Given the description of an element on the screen output the (x, y) to click on. 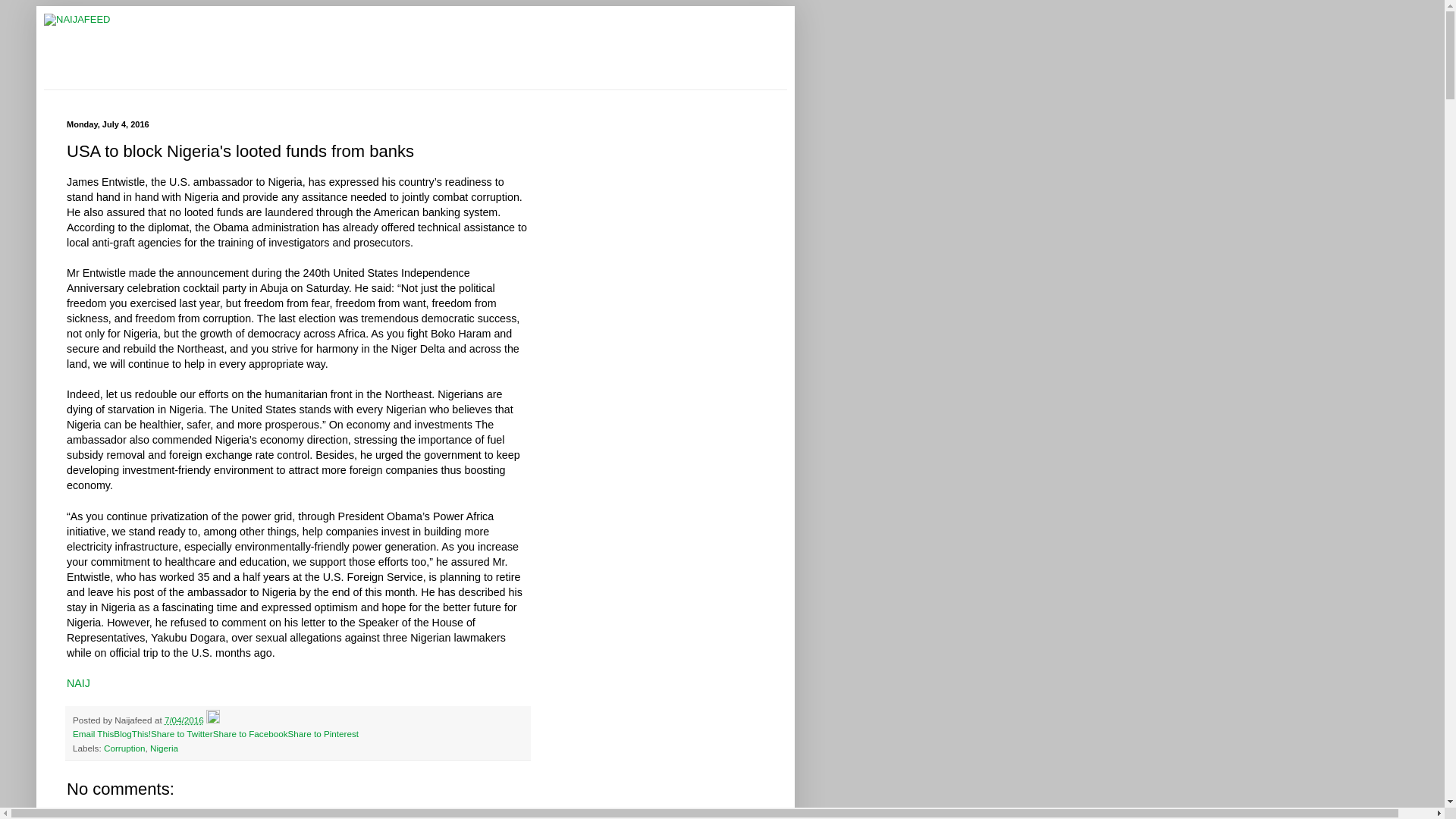
NAIJ (78, 683)
Share to Facebook (250, 733)
Share to Pinterest (322, 733)
Nigeria (163, 747)
Email This (92, 733)
Edit Post (212, 719)
Corruption (124, 747)
Share to Facebook (250, 733)
permanent link (183, 719)
Share to Twitter (181, 733)
Email This (92, 733)
BlogThis! (132, 733)
BlogThis! (132, 733)
Share to Pinterest (322, 733)
Share to Twitter (181, 733)
